Given the description of an element on the screen output the (x, y) to click on. 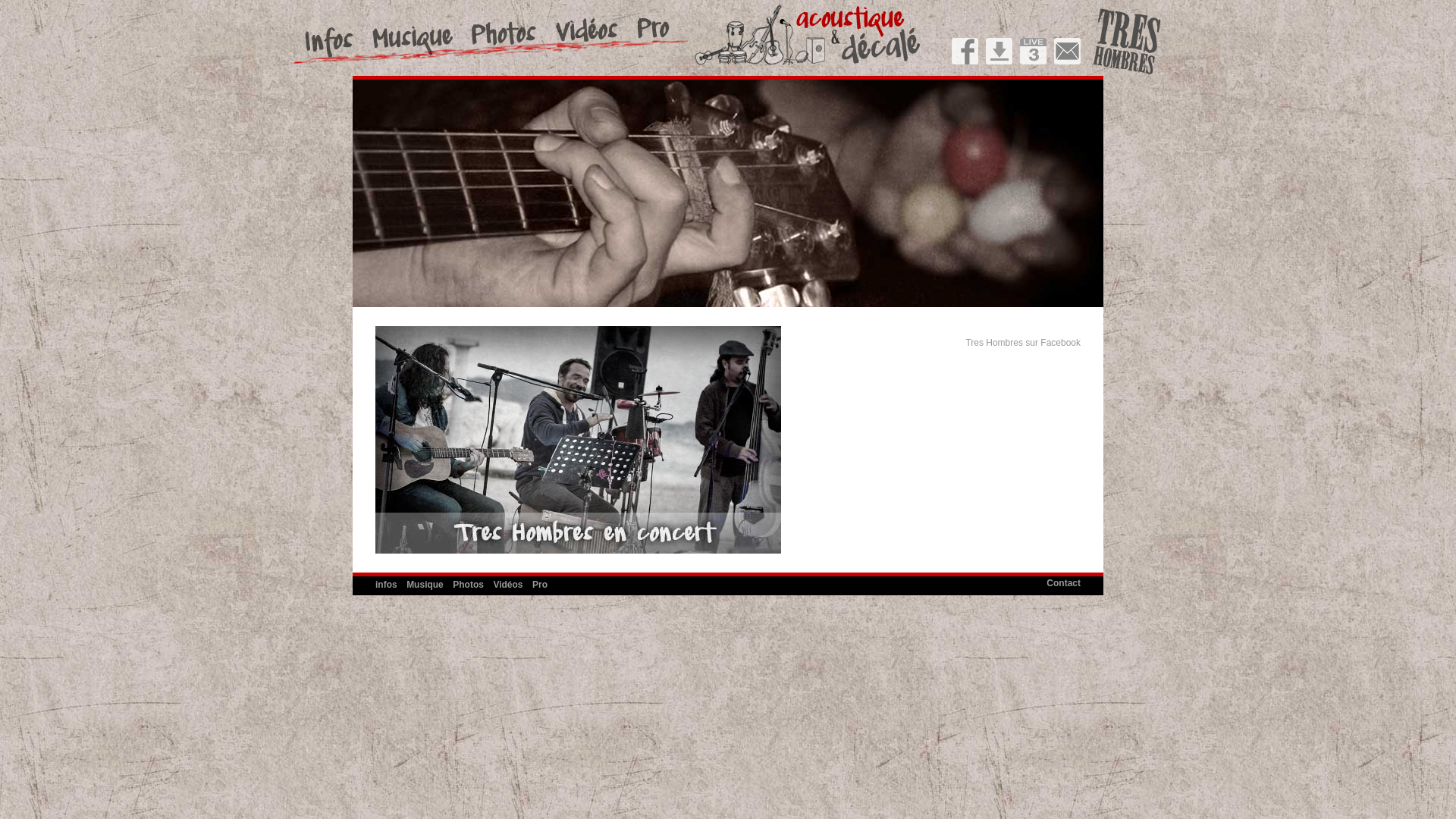
infos Element type: text (386, 584)
Contact Element type: text (1063, 582)
Musique Element type: text (424, 584)
Pro Element type: text (539, 584)
Photos Element type: text (467, 584)
